Given the description of an element on the screen output the (x, y) to click on. 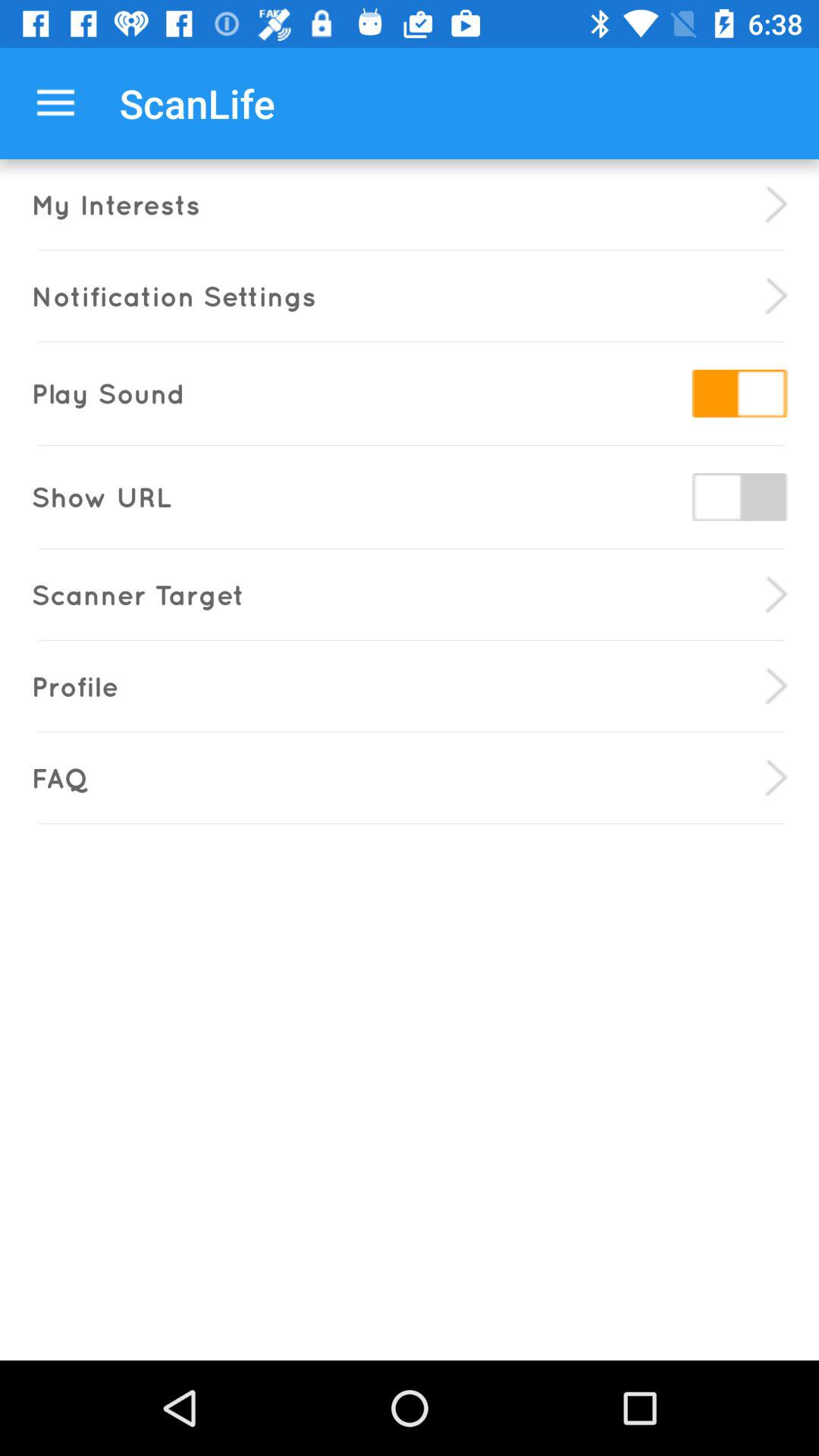
open item to the right of the show url icon (739, 496)
